Given the description of an element on the screen output the (x, y) to click on. 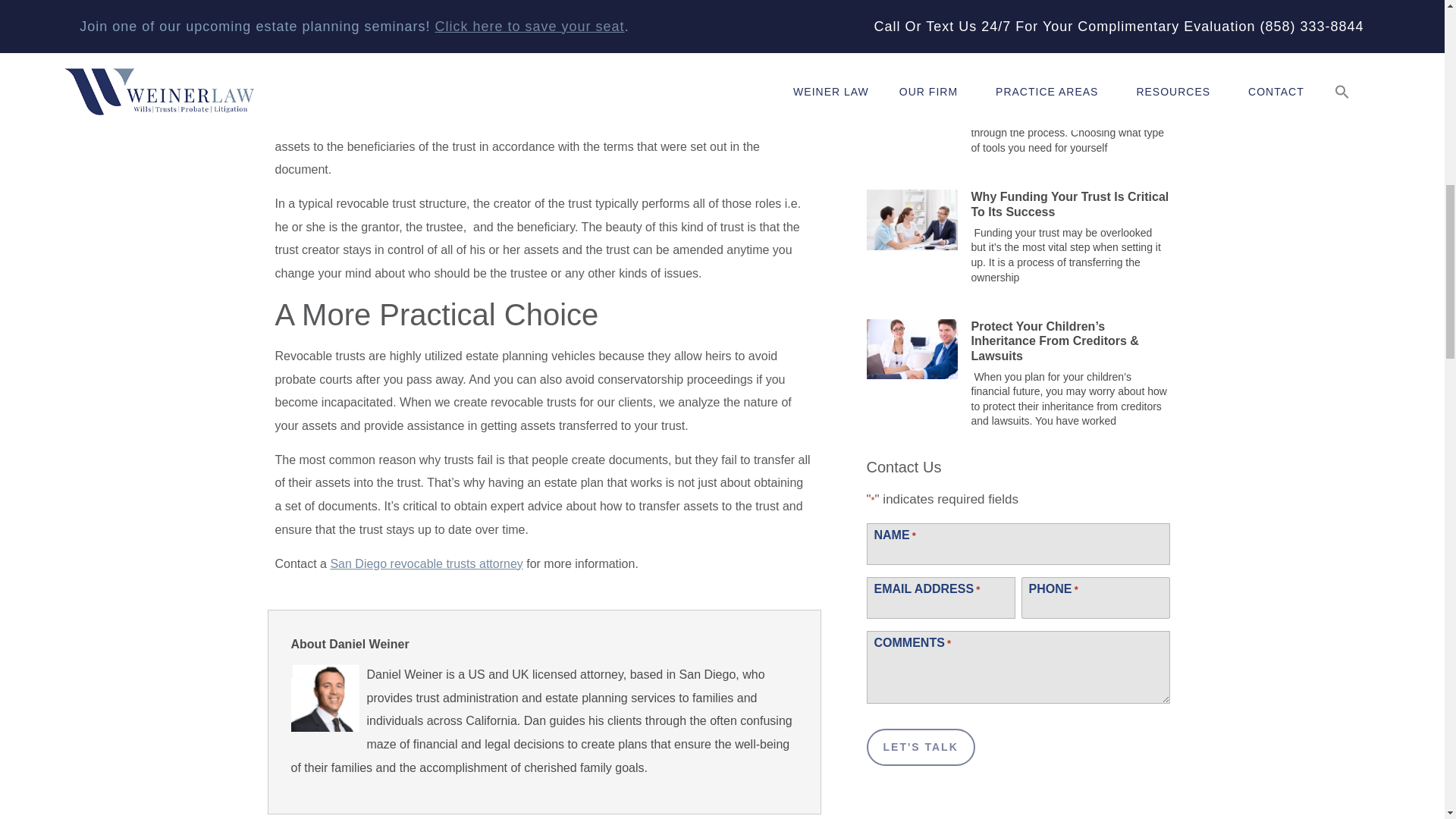
LET'S TALK (920, 746)
